Given the description of an element on the screen output the (x, y) to click on. 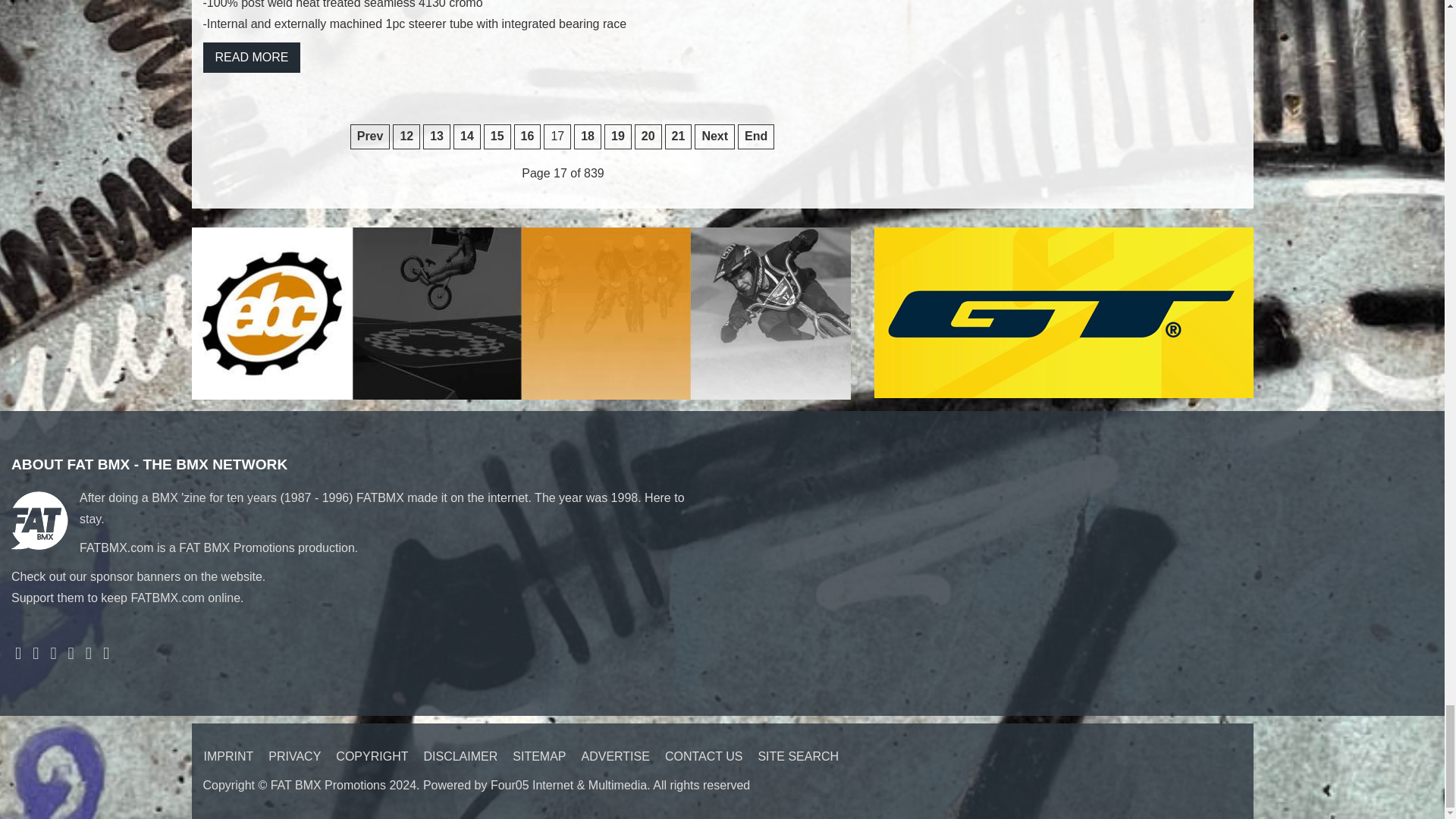
19 (617, 136)
14 (466, 136)
Next (714, 136)
End (756, 136)
Prev (370, 136)
18 (587, 136)
16 (527, 136)
12 (406, 136)
EBC860 (520, 312)
13 (436, 136)
20 (648, 136)
21 (679, 136)
15 (497, 136)
Four05 Internet Oldenzaal (568, 784)
